Given the description of an element on the screen output the (x, y) to click on. 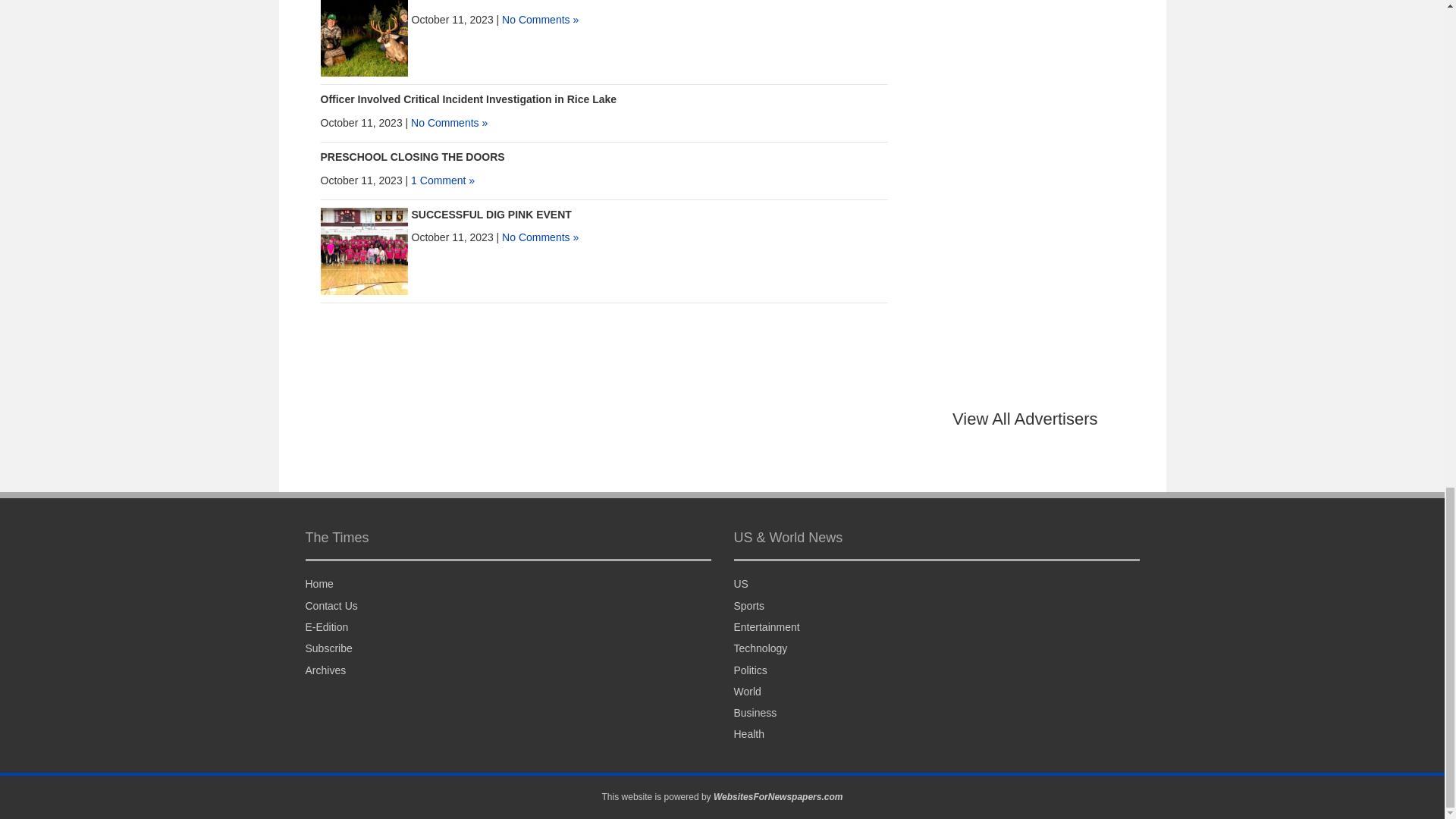
YOUTH HUNTERS SUCCESSFUL (363, 31)
YOUTH HUNTERS SUCCESSFUL (493, 1)
SUCCESSFUL DIG PINK EVENT (490, 214)
PRESCHOOL CLOSING THE DOORS (411, 156)
SUCCESSFUL DIG PINK EVENT (363, 250)
